Given the description of an element on the screen output the (x, y) to click on. 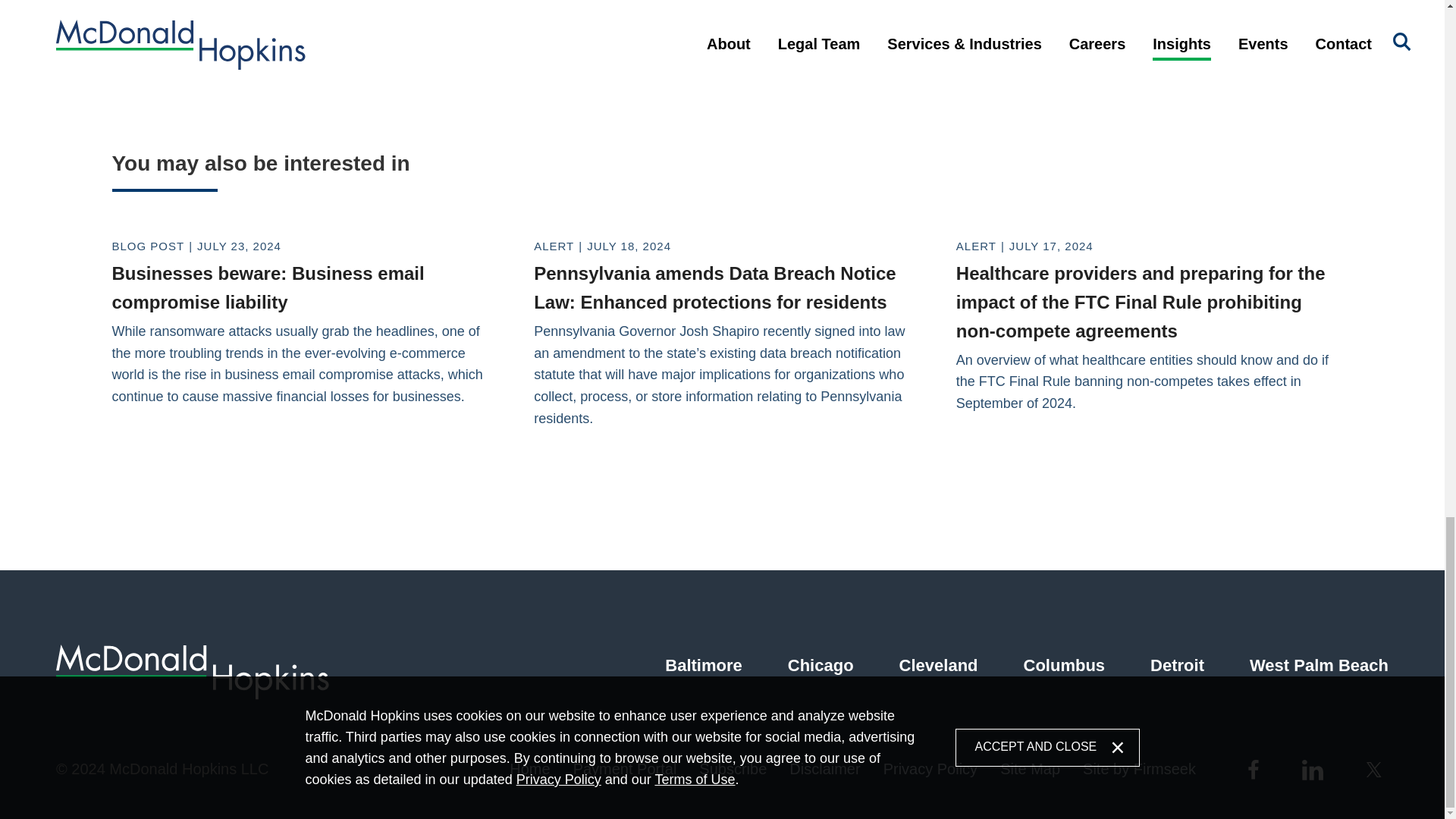
Linkedin (1312, 769)
Twitter (1375, 769)
